Given the description of an element on the screen output the (x, y) to click on. 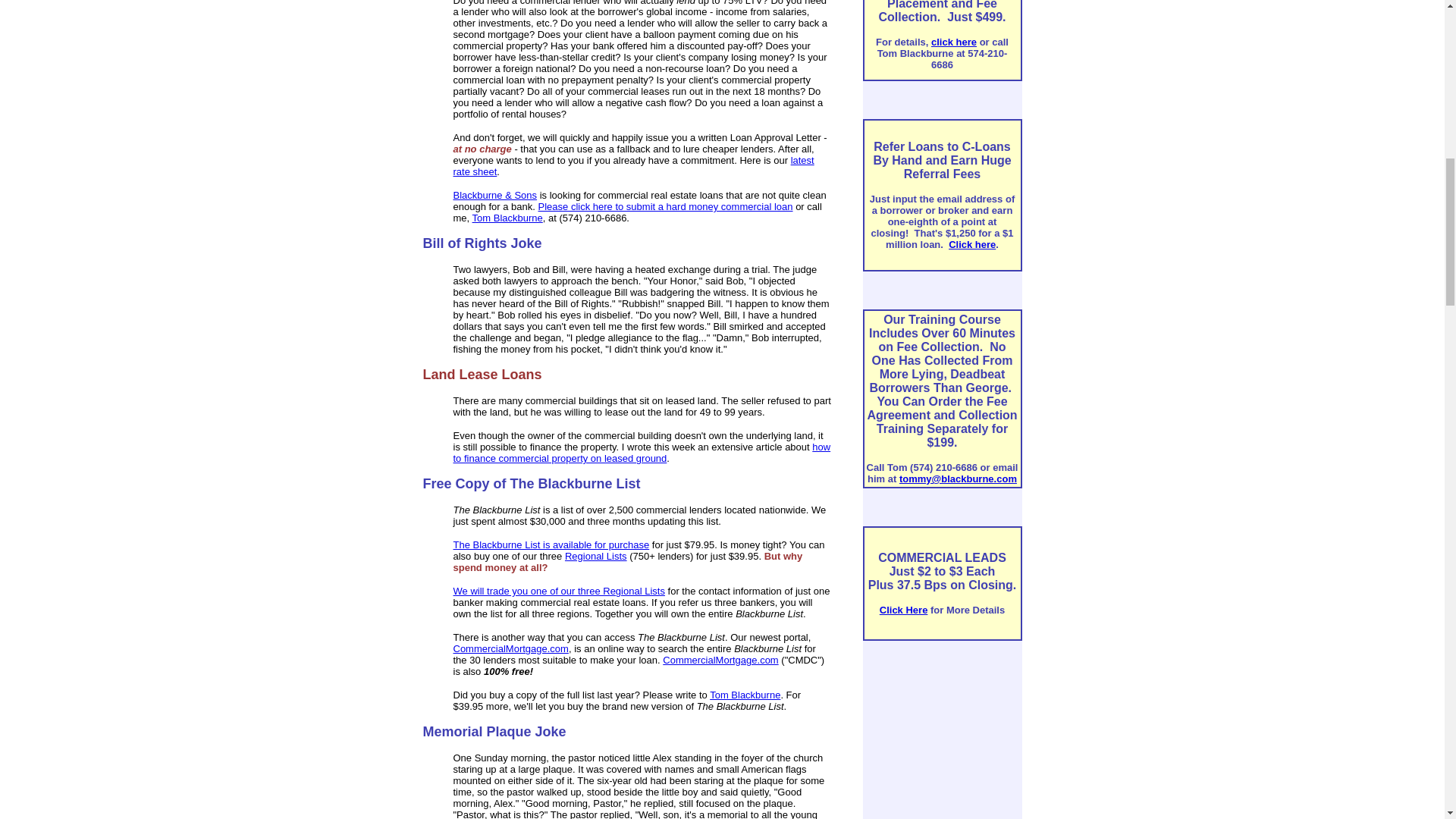
Please click here to submit a hard money commercial loan (665, 206)
how to finance commercial property on leased ground (641, 452)
Tom Blackburne (745, 695)
Tom Blackburne (507, 217)
CommercialMortgage.com (719, 659)
The Blackburne List is available for purchase (550, 544)
click here (953, 41)
Regional Lists (595, 555)
latest rate sheet (632, 165)
We will trade you one of our three Regional Lists (558, 591)
